Given the description of an element on the screen output the (x, y) to click on. 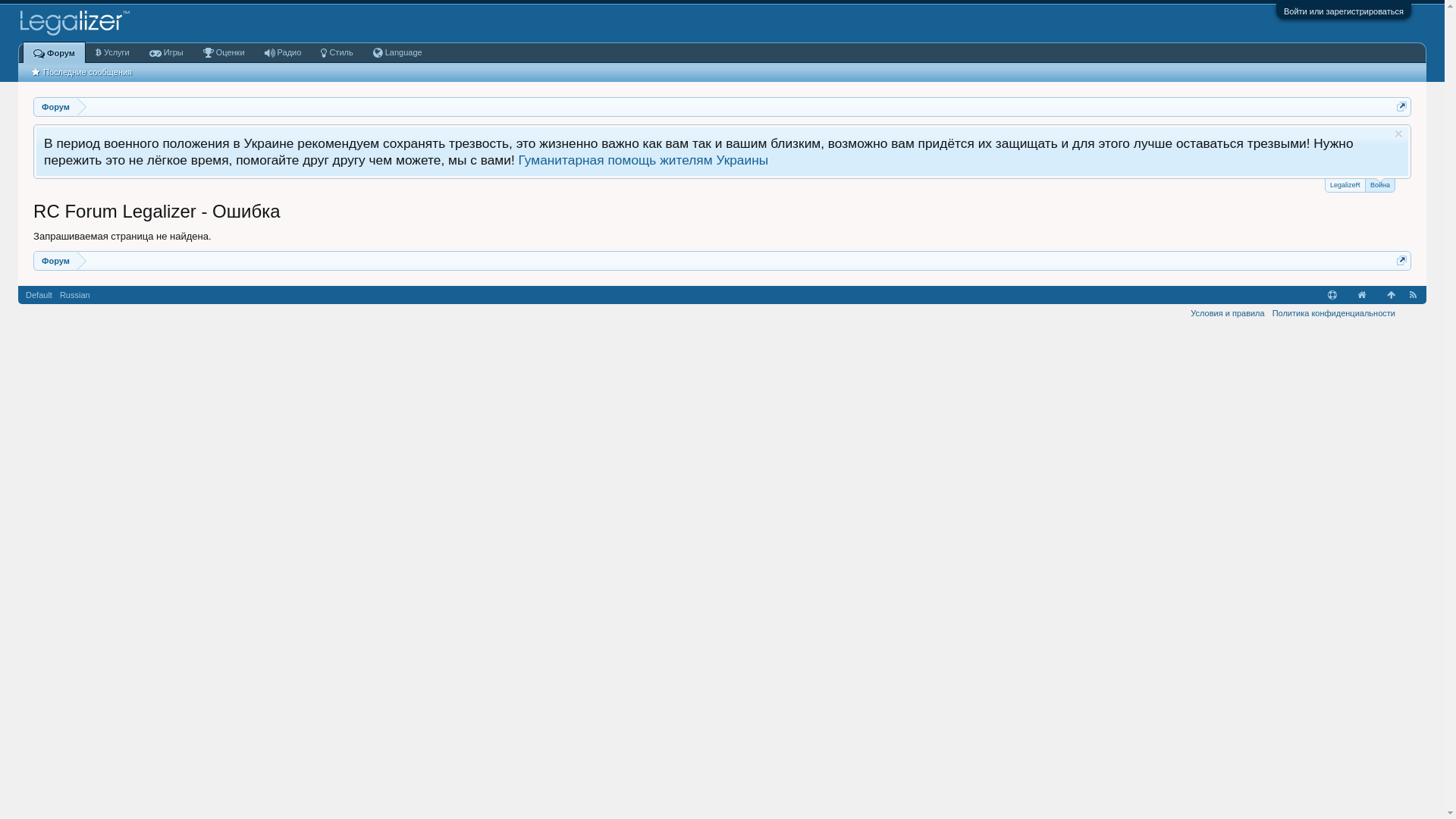
RSS Element type: text (1413, 294)
Language Element type: text (397, 52)
LegalizeR Element type: text (1344, 185)
Default Element type: text (38, 294)
Russian Element type: text (75, 294)
